Given the description of an element on the screen output the (x, y) to click on. 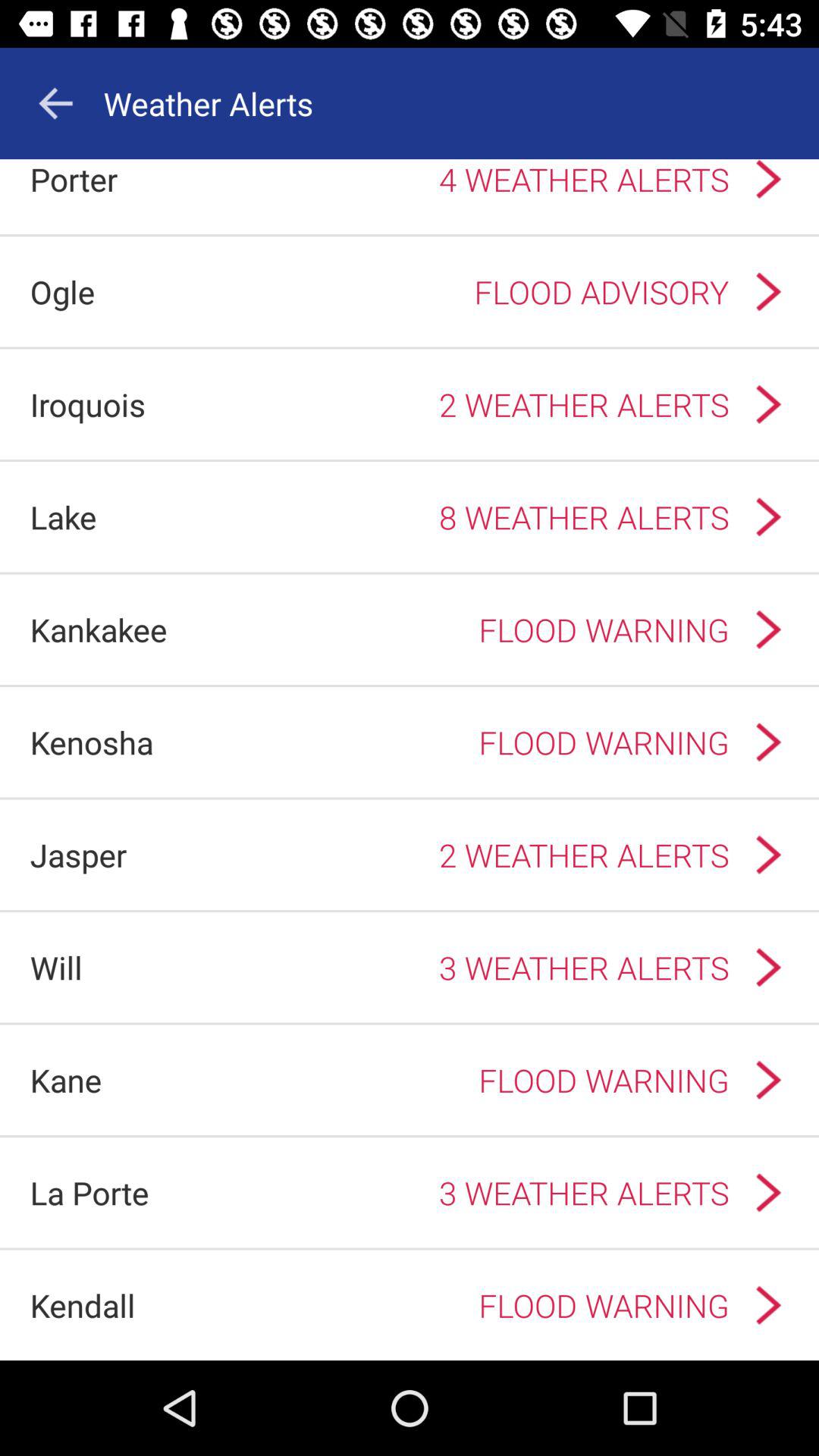
click icon to the left of flood warning icon (98, 629)
